Given the description of an element on the screen output the (x, y) to click on. 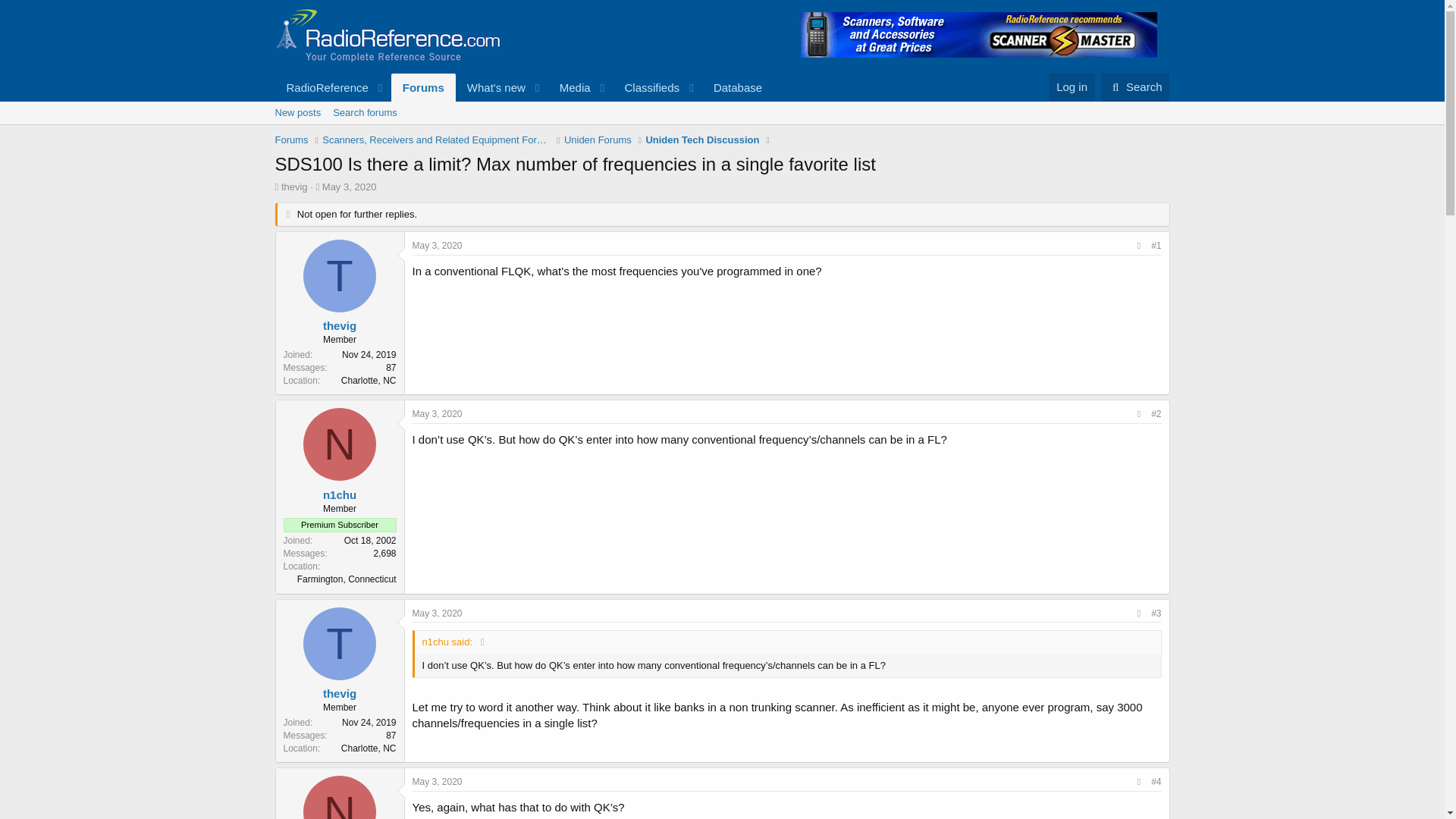
Search (720, 129)
May 3, 2020 at 6:28 AM (1135, 86)
What's new (437, 781)
May 3, 2020 at 4:01 AM (491, 87)
Classifieds (437, 413)
New posts (523, 87)
Search (645, 87)
Search forums (296, 112)
Media (1135, 86)
Log in (364, 112)
May 3, 2020 at 3:43 AM (570, 87)
May 3, 2020 at 4:22 AM (1071, 86)
Database (437, 245)
